Given the description of an element on the screen output the (x, y) to click on. 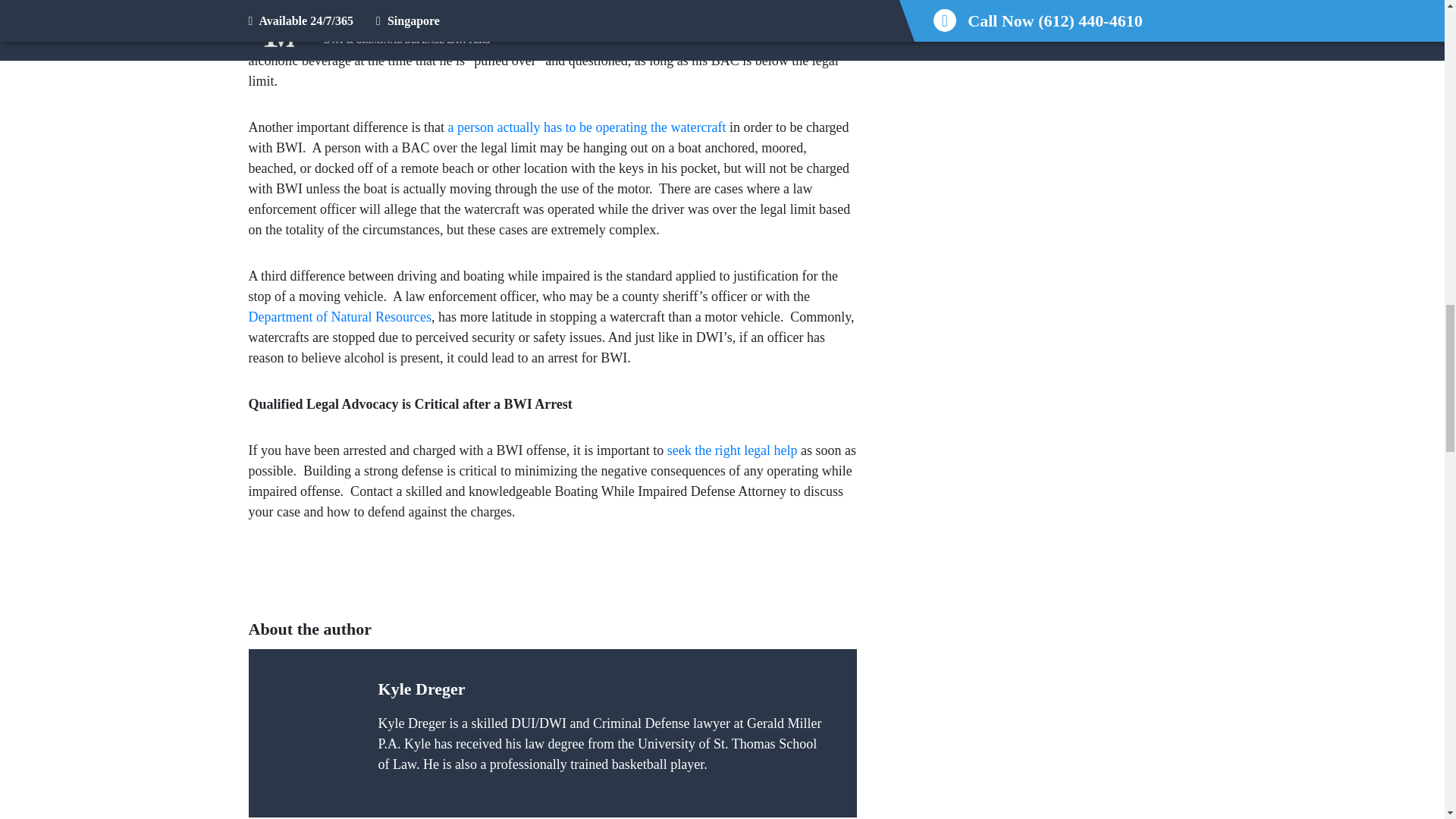
Minnesota Statutes 86B.331 (538, 29)
Contact (731, 450)
Minnesota DNR Boating Guide (588, 127)
Minnesota Department of Natural Resources (339, 316)
